Given the description of an element on the screen output the (x, y) to click on. 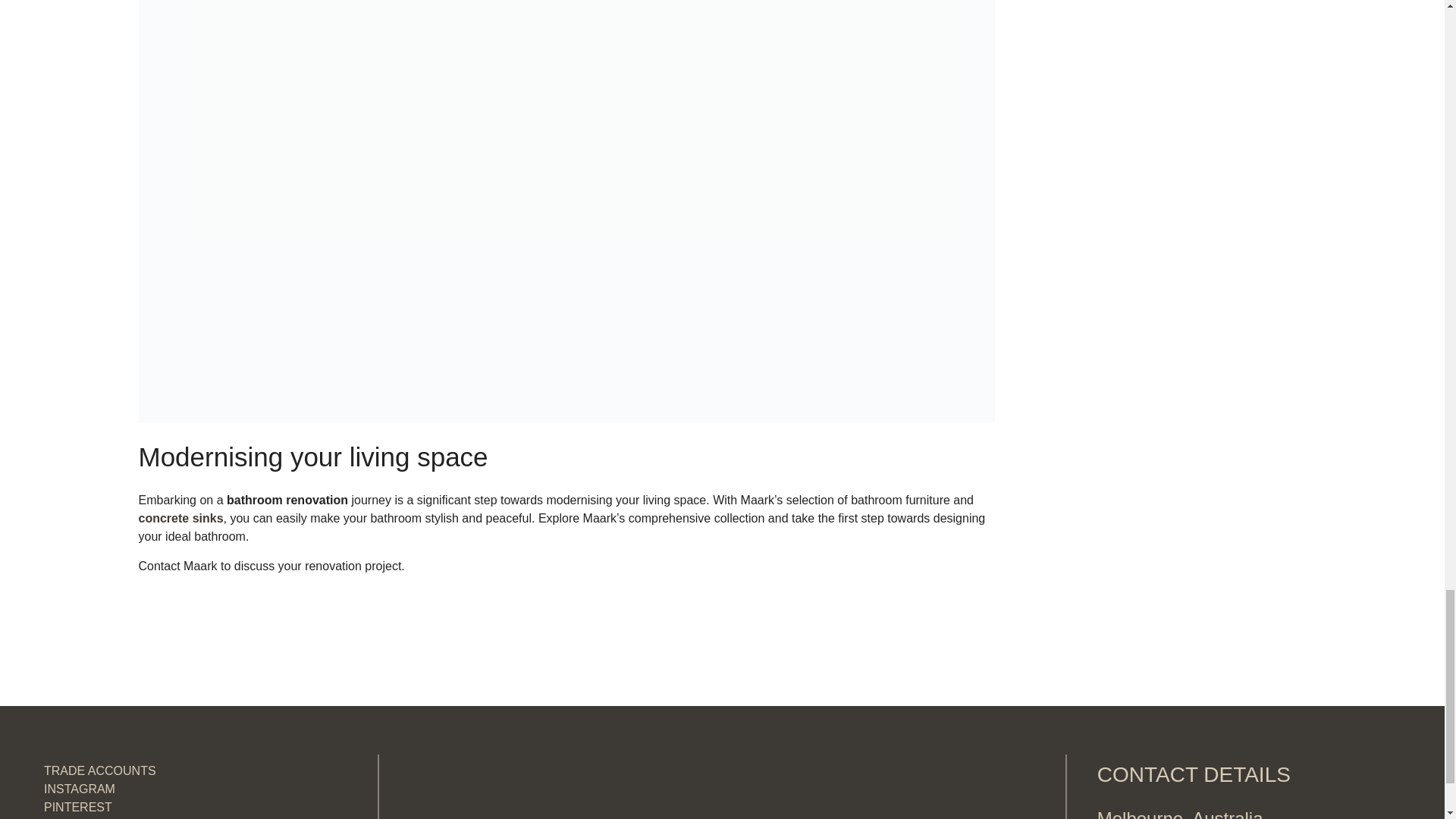
concrete sinks (180, 517)
